Given the description of an element on the screen output the (x, y) to click on. 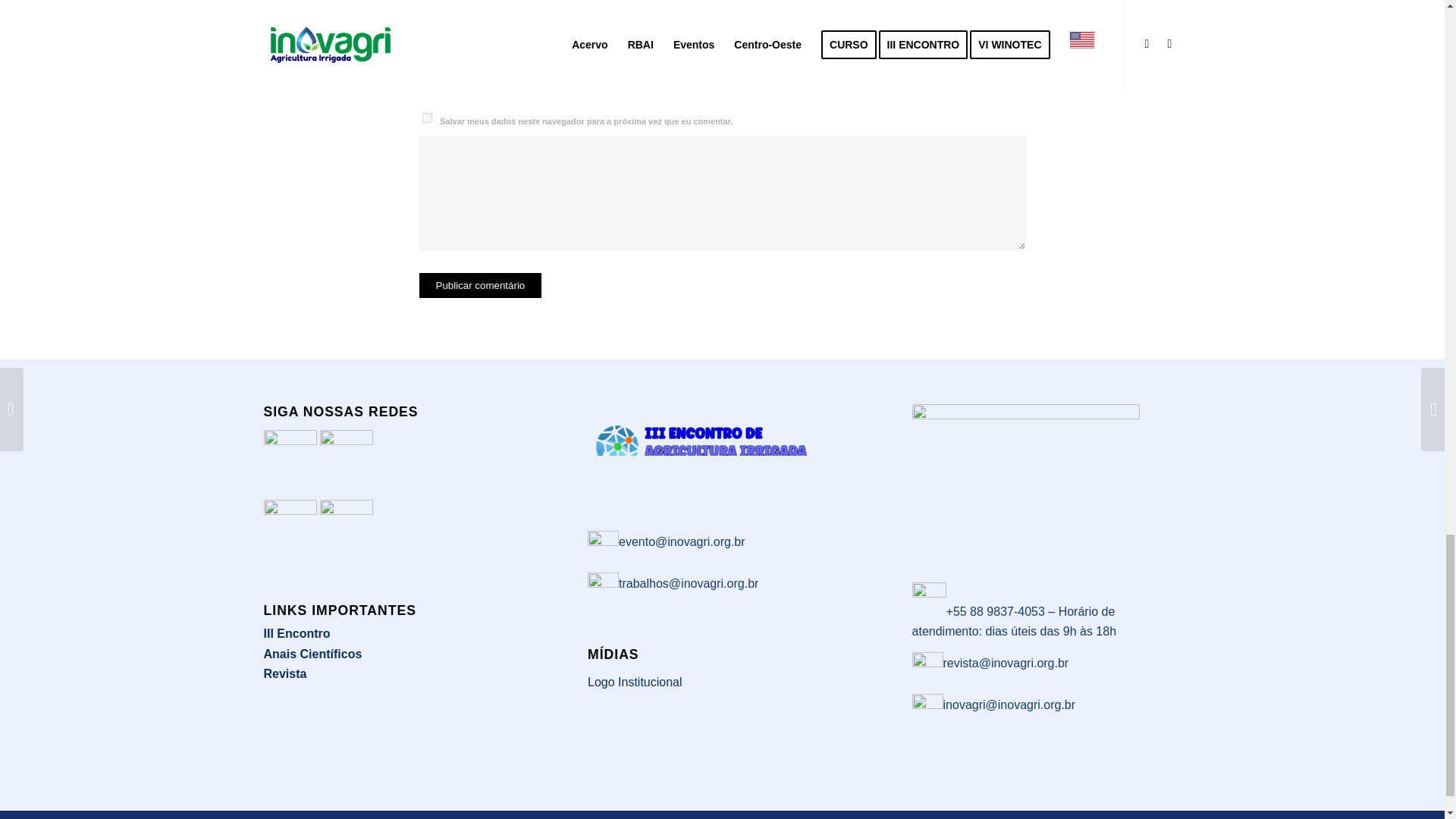
yes (426, 117)
